Given the description of an element on the screen output the (x, y) to click on. 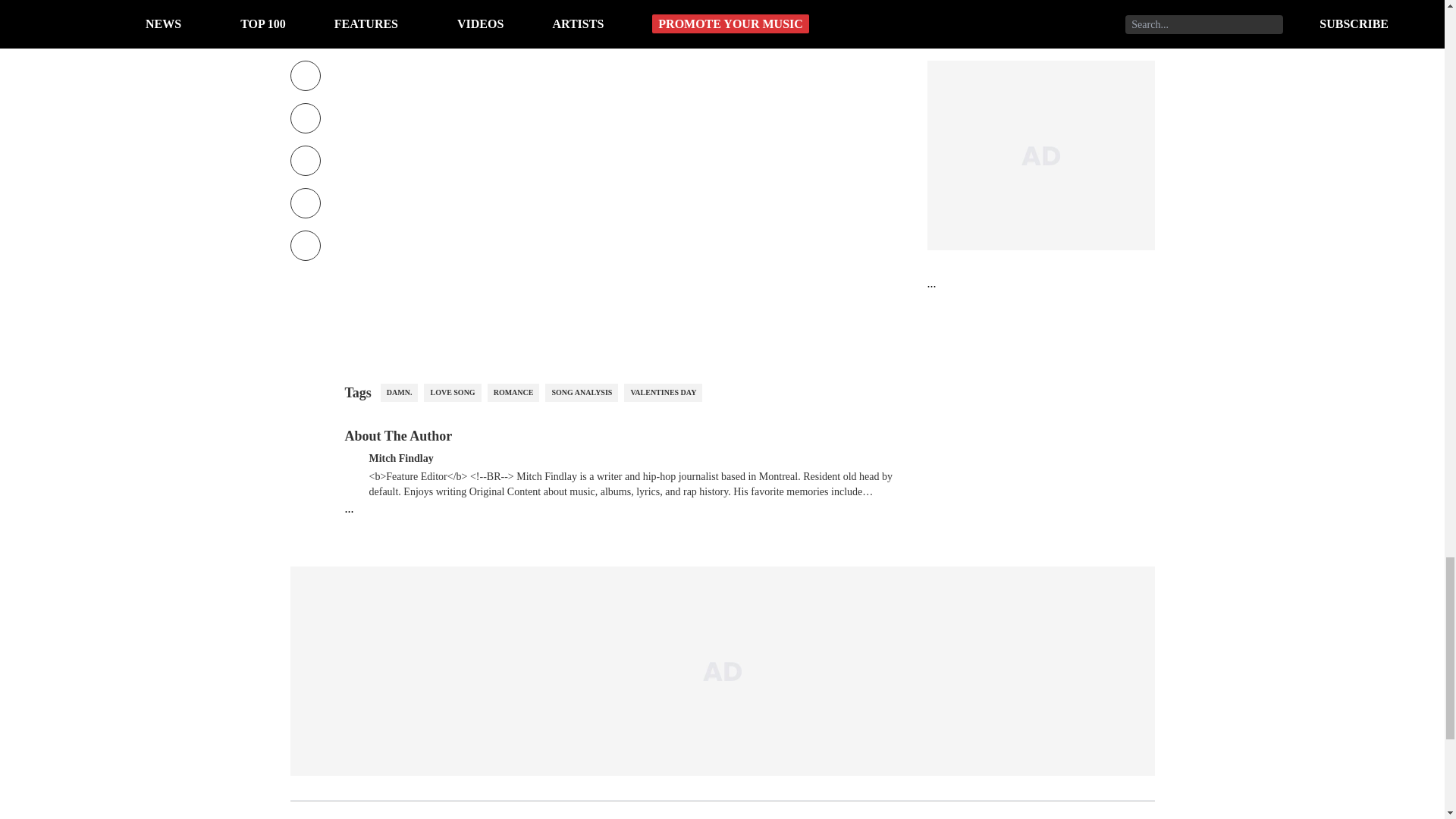
ROMANCE (513, 393)
SONG ANALYSIS (580, 393)
DAMN. (399, 393)
VALENTINES DAY (662, 393)
LOVE SONG (451, 393)
Mitch Findlay (400, 456)
